Given the description of an element on the screen output the (x, y) to click on. 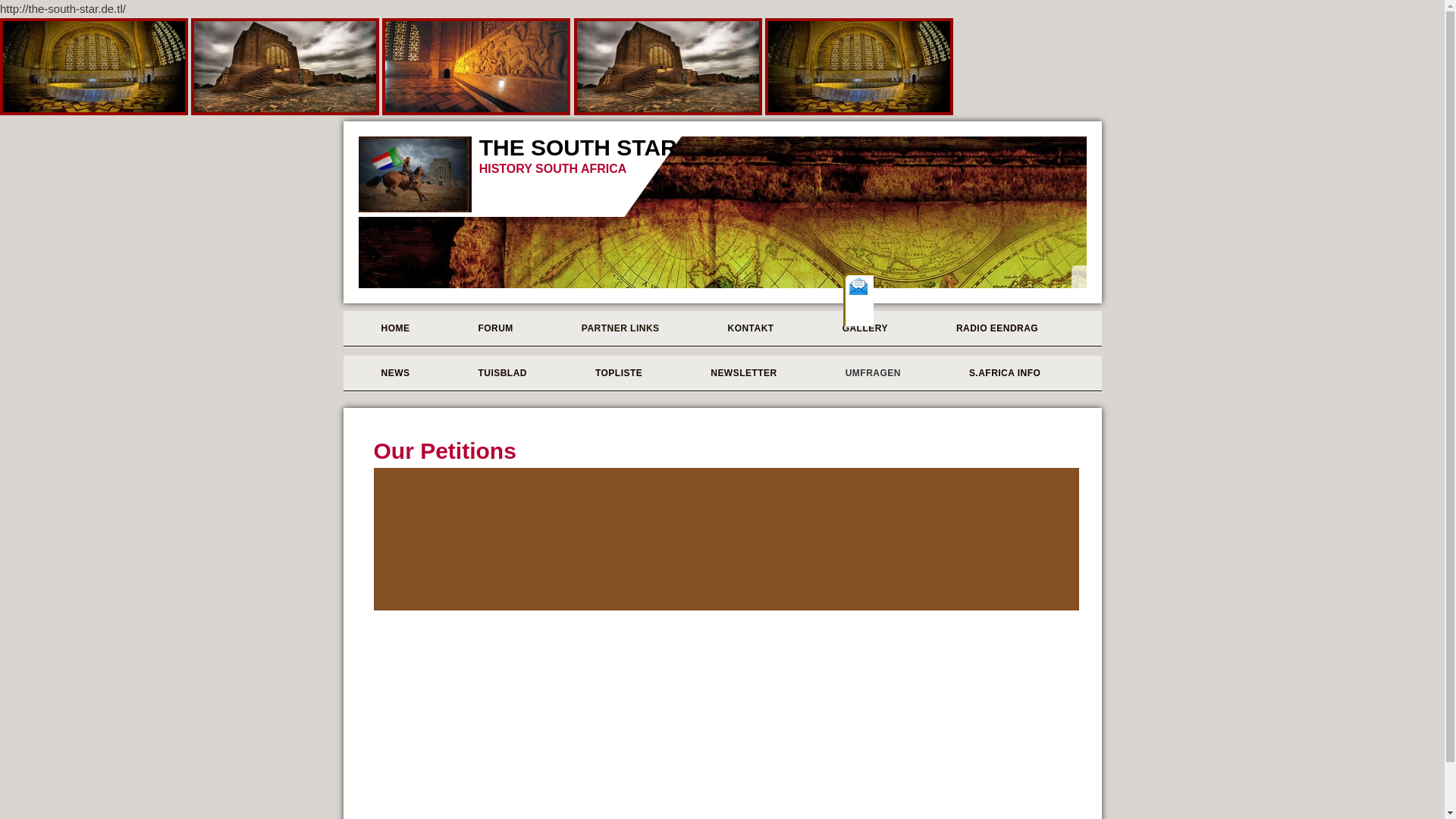
HOME (388, 328)
RADIO EENDRAG (991, 328)
FORUM (488, 328)
PARTNER LINKS (614, 328)
KONTAKT (745, 328)
GALLERY (859, 328)
